Given the description of an element on the screen output the (x, y) to click on. 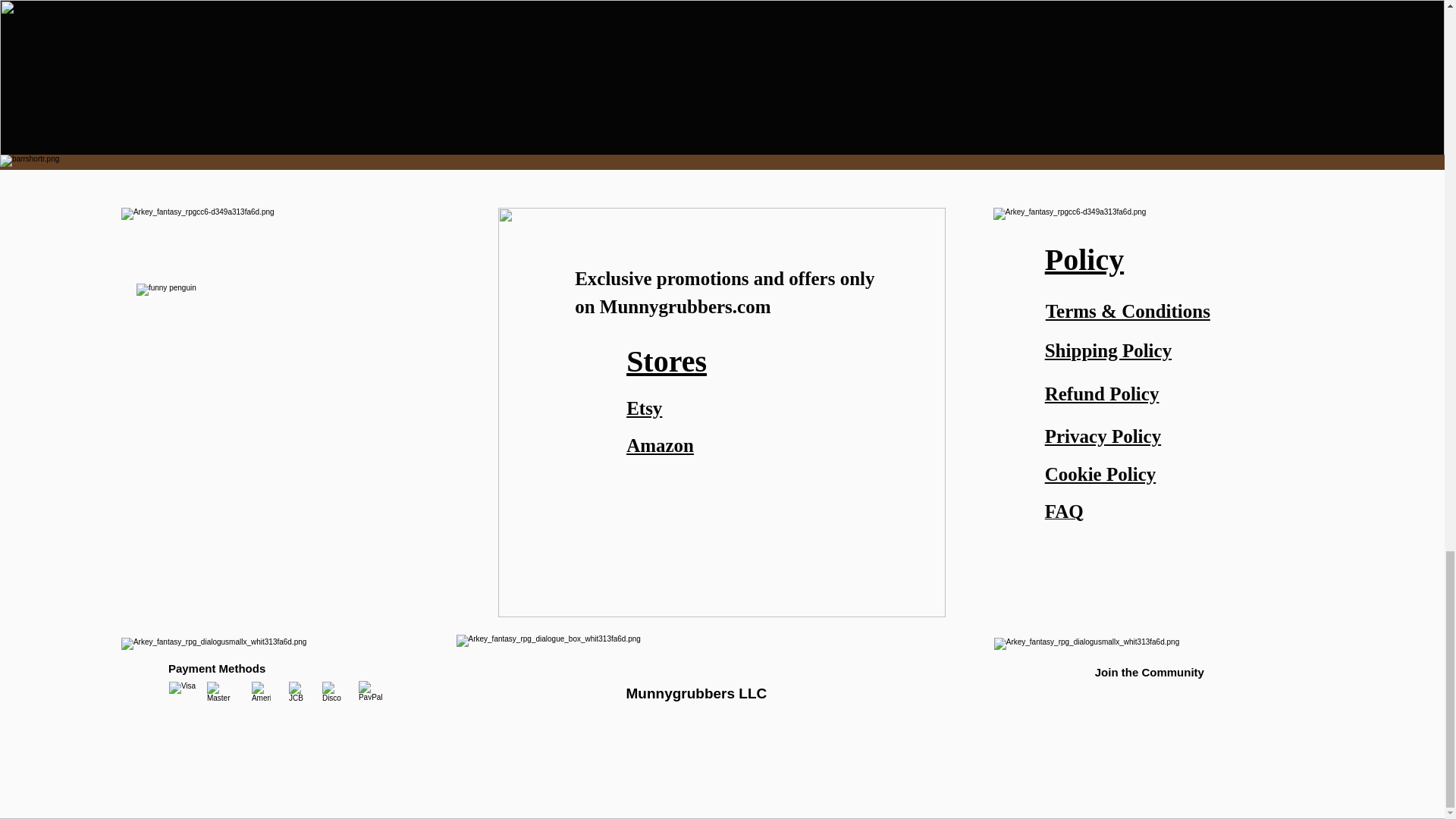
Privacy Policy (1102, 435)
Cookie Policy (1100, 473)
Refund Policy (1101, 393)
Etsy (644, 407)
FAQ (1064, 513)
Amazon (660, 444)
Shipping Policy (1108, 350)
